Given the description of an element on the screen output the (x, y) to click on. 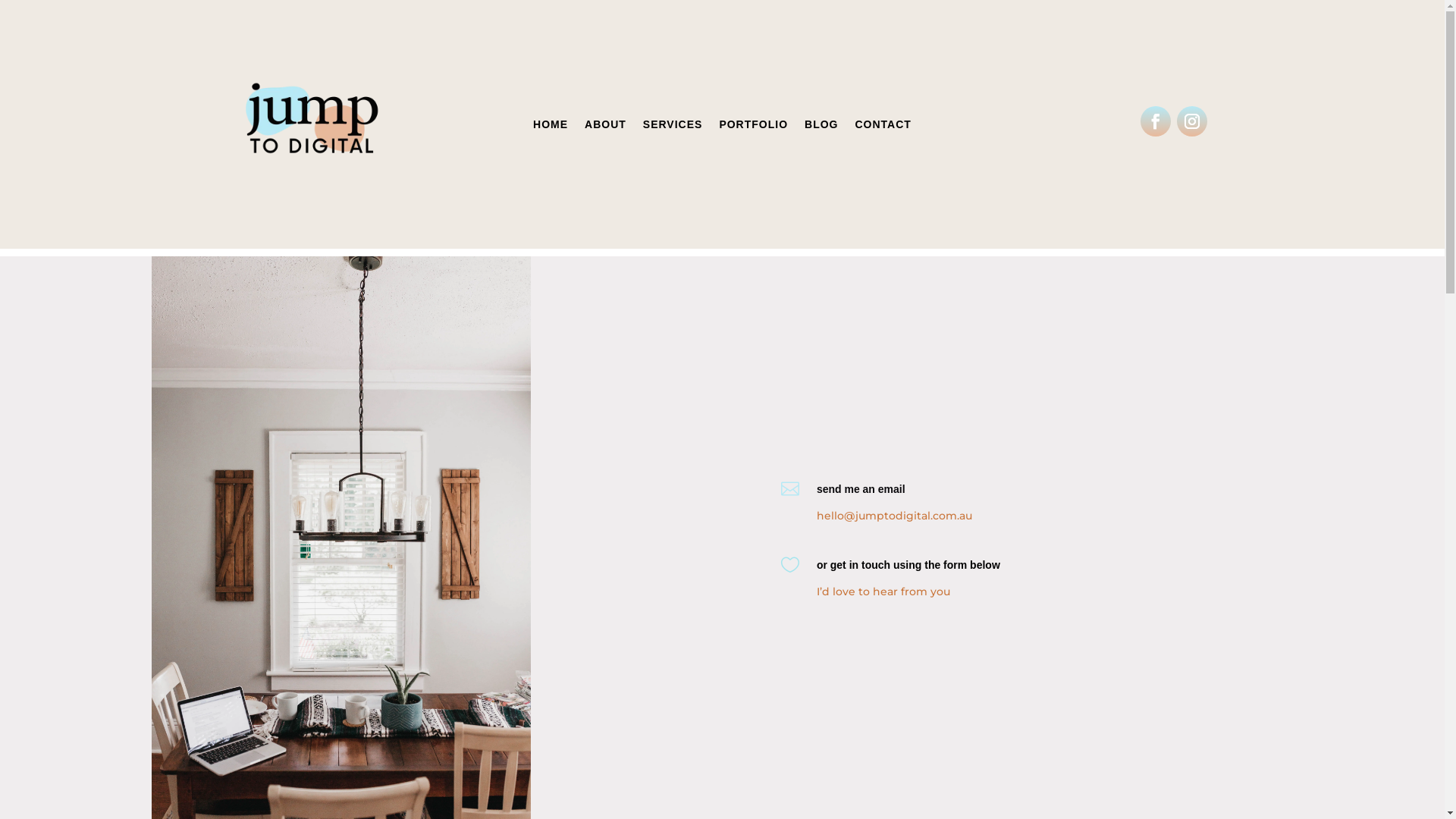
BLOG Element type: text (820, 127)
HOME Element type: text (550, 127)
SERVICES Element type: text (672, 127)
Jump To Digital Logo 2.0 (1) Element type: hover (312, 124)
ABOUT Element type: text (605, 127)
CONTACT Element type: text (883, 127)
Follow on Instagram Element type: hover (1191, 121)
Follow on Facebook Element type: hover (1155, 121)
PORTFOLIO Element type: text (752, 127)
